Given the description of an element on the screen output the (x, y) to click on. 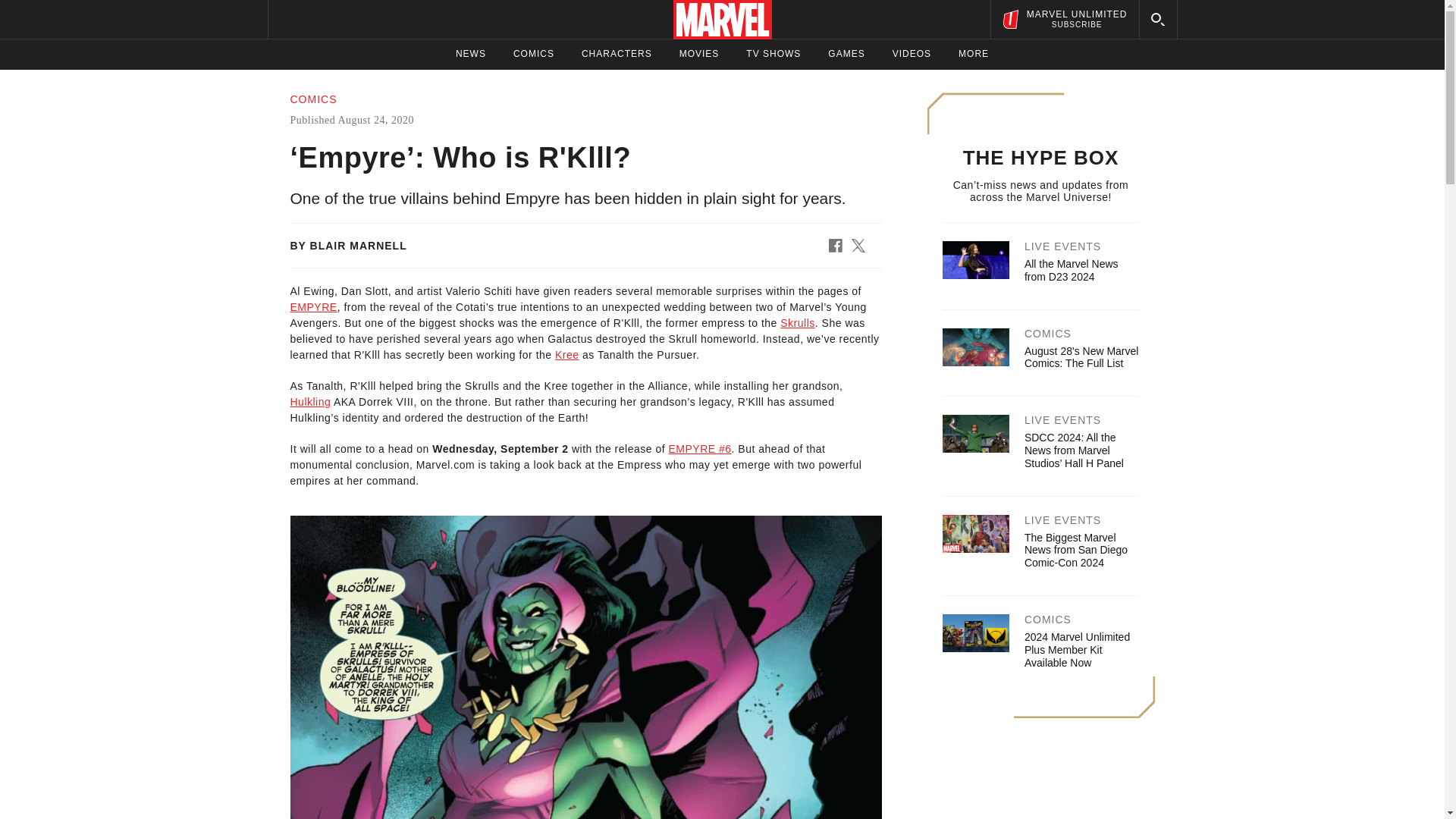
EMPYRE (312, 306)
VIDEOS (911, 54)
NEWS (470, 54)
TV SHOWS (772, 54)
Skrulls (797, 322)
MORE (1064, 19)
CHARACTERS (973, 54)
MOVIES (616, 54)
COMICS (699, 54)
